Given the description of an element on the screen output the (x, y) to click on. 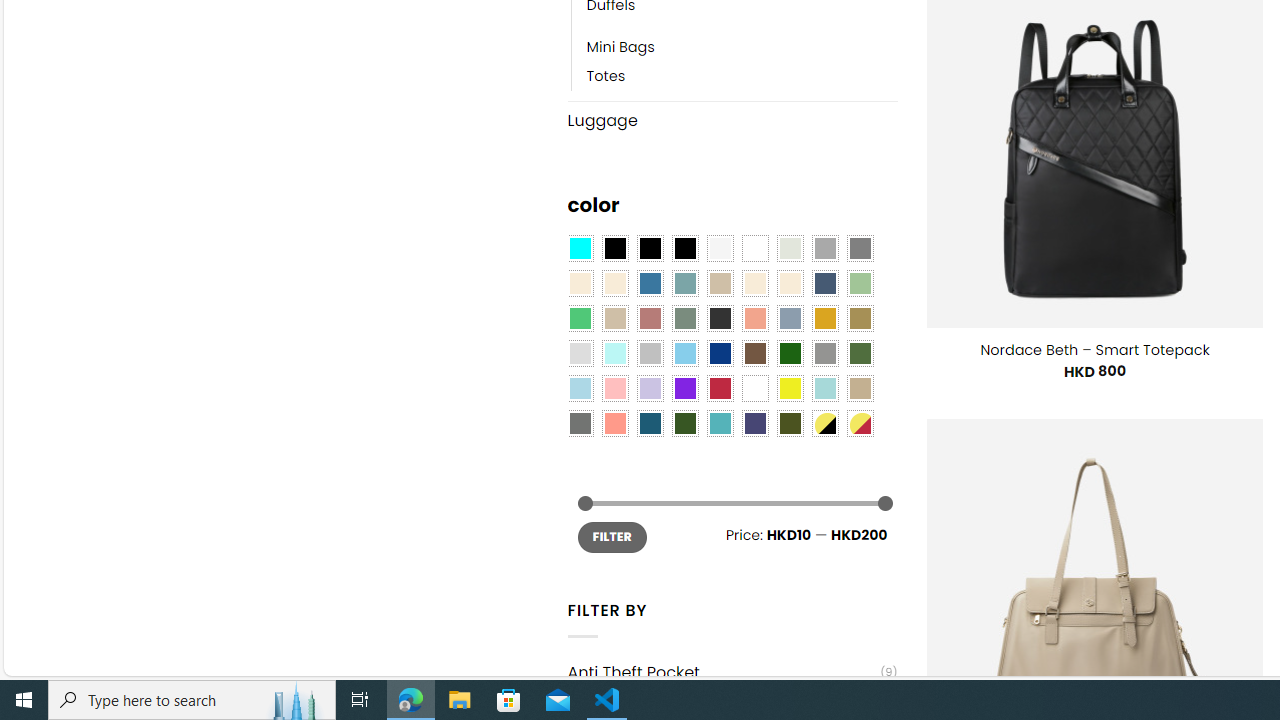
White (755, 388)
Caramel (755, 283)
Beige-Brown (614, 283)
Dark Green (789, 354)
Khaki (859, 388)
Mini Bags (742, 48)
Yellow (789, 388)
Green (859, 354)
Yellow-Black (824, 424)
Dull Nickle (579, 424)
All Black (614, 249)
Black (650, 249)
Aqua Blue (579, 249)
Cream (789, 283)
